Given the description of an element on the screen output the (x, y) to click on. 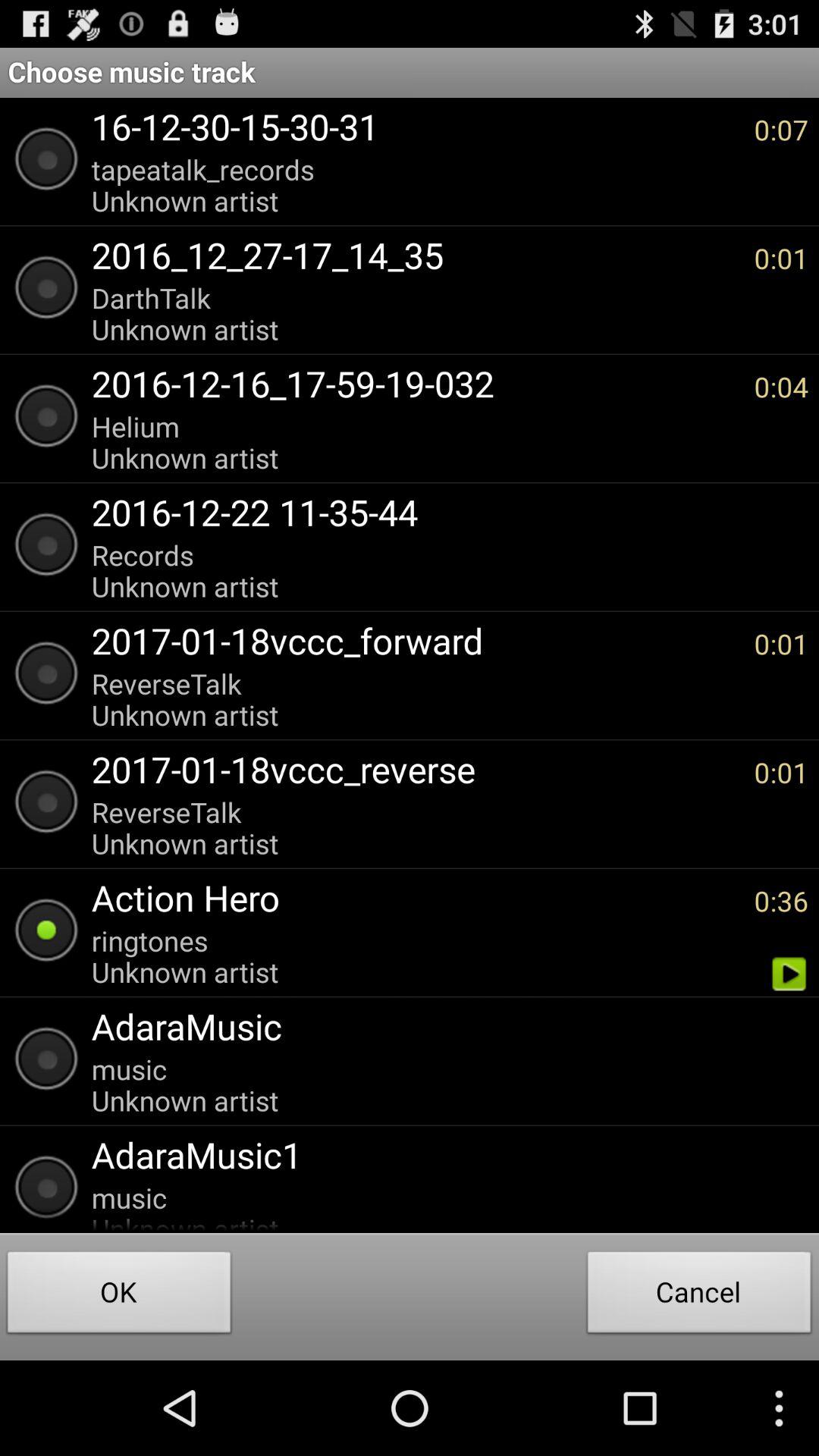
select button to the left of cancel (119, 1296)
